Given the description of an element on the screen output the (x, y) to click on. 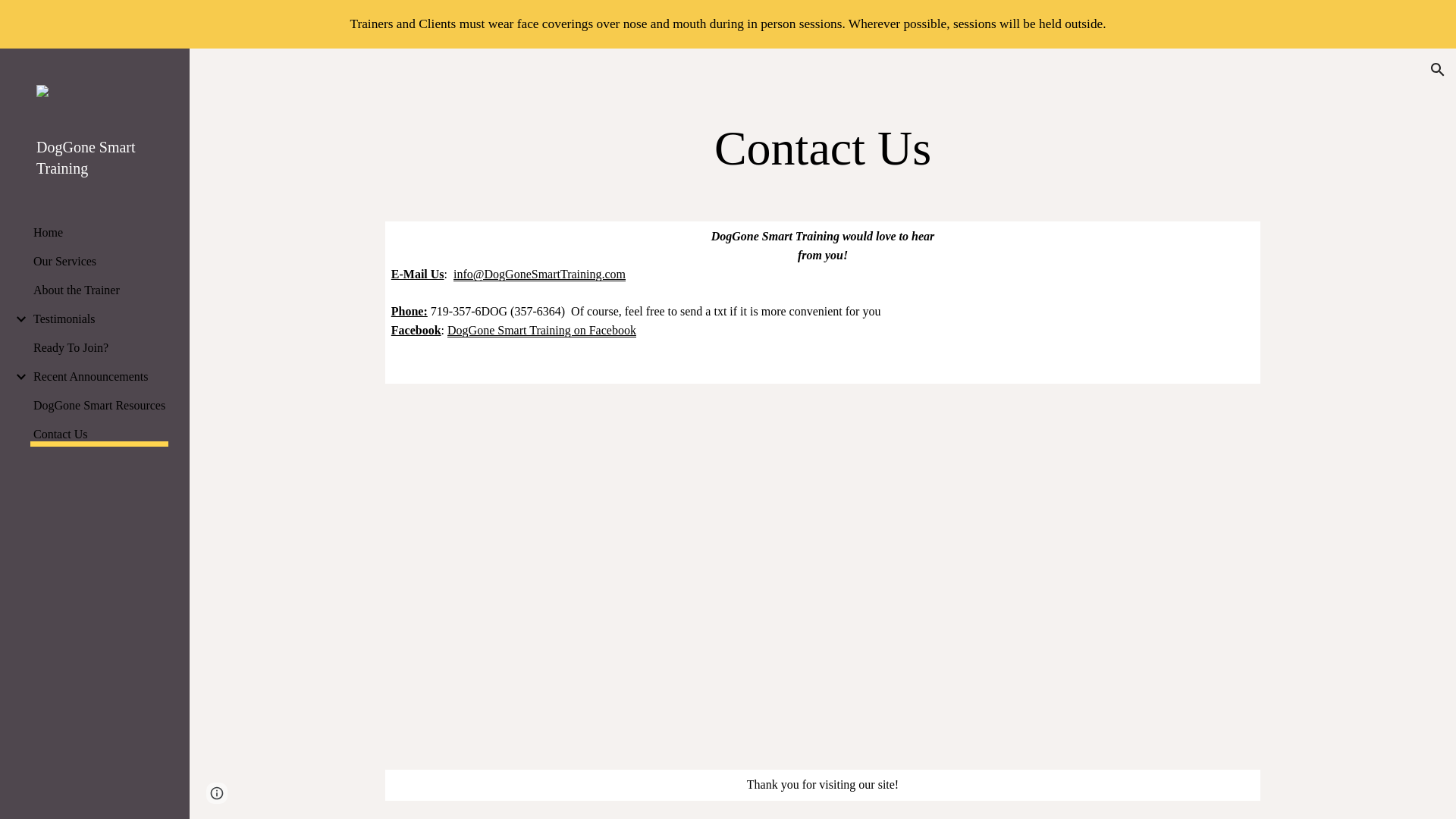
Ready To Join? (99, 347)
About the Trainer (99, 290)
Recent Announcements (99, 377)
Our Services (99, 261)
Home (99, 232)
DogGone Smart Resources (99, 405)
Contact Us (99, 436)
Testimonials (99, 318)
DogGone Smart Training (100, 157)
DogGone Smart Training on Facebook (541, 330)
